Given the description of an element on the screen output the (x, y) to click on. 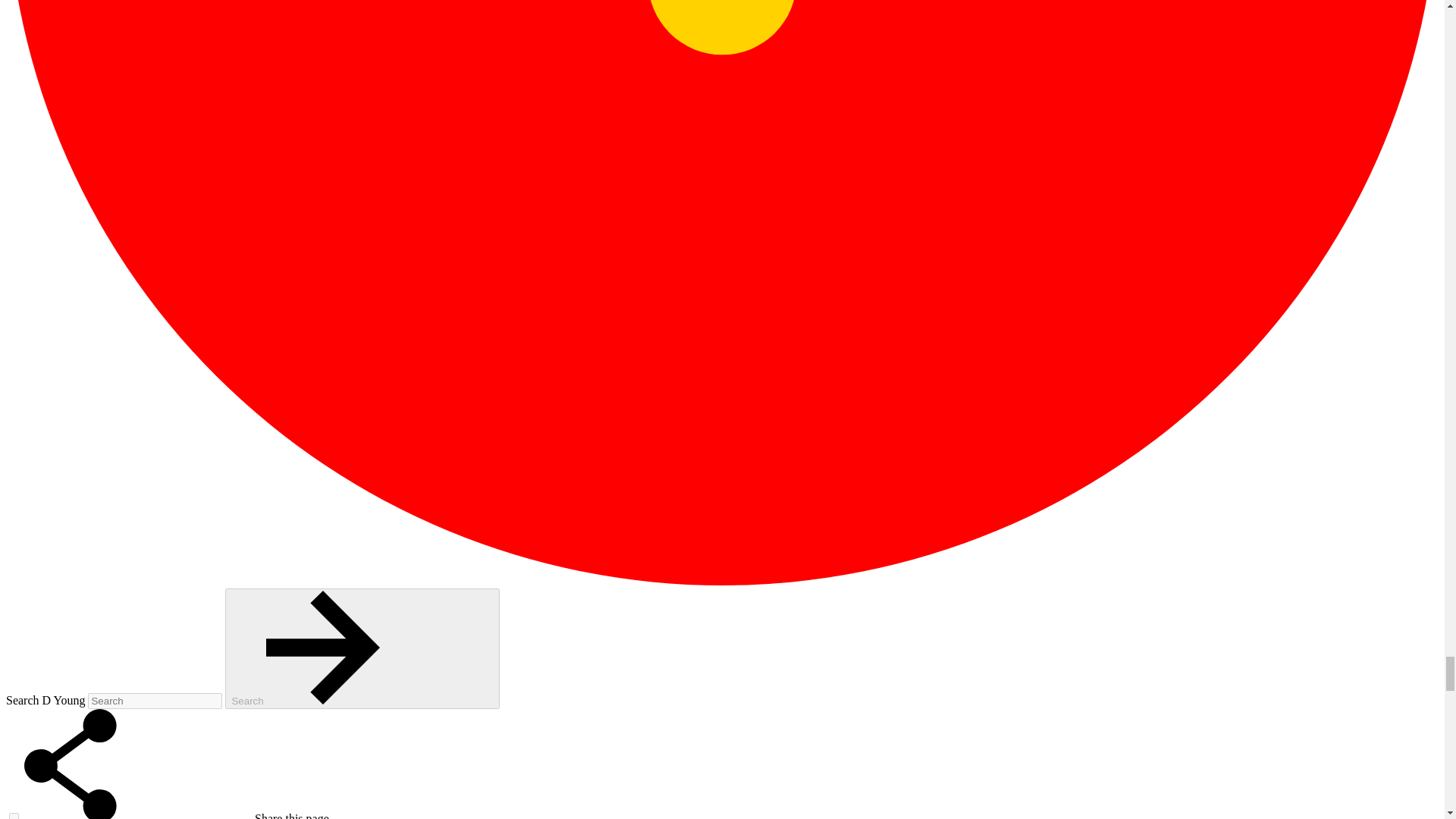
on (13, 816)
